Given the description of an element on the screen output the (x, y) to click on. 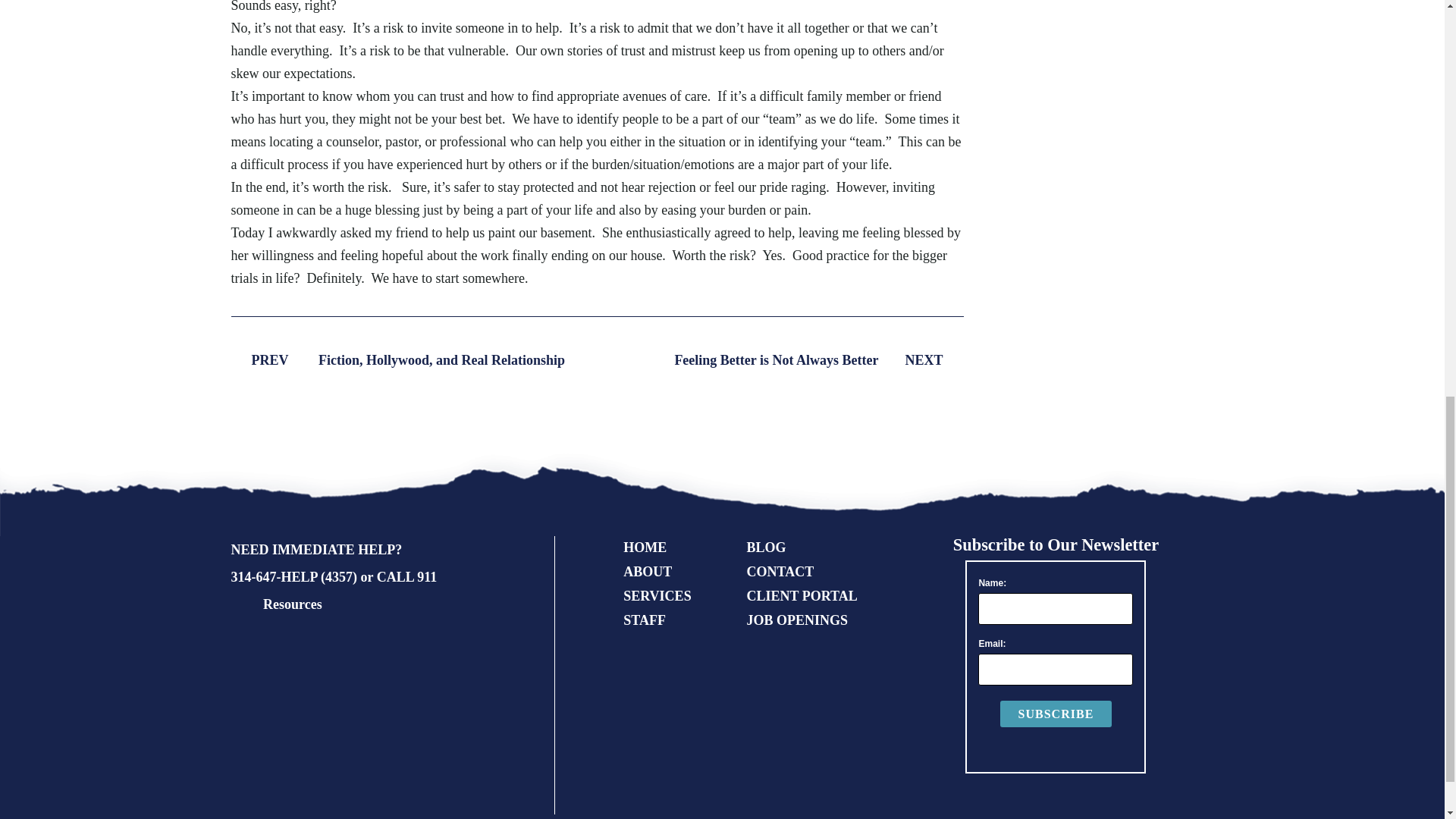
Feeling Better is Not Always BetterNEXT (818, 359)
Resources (292, 604)
SUBSCRIBE (1056, 714)
STAFF (644, 620)
SERVICES (656, 595)
CLIENT PORTAL (801, 595)
SUBSCRIBE (1056, 714)
JOB OPENINGS (796, 620)
BLOG (765, 547)
HOME (644, 547)
PREV Fiction, Hollywood, and Real Relationship (397, 359)
ABOUT (647, 571)
CONTACT (779, 571)
